Given the description of an element on the screen output the (x, y) to click on. 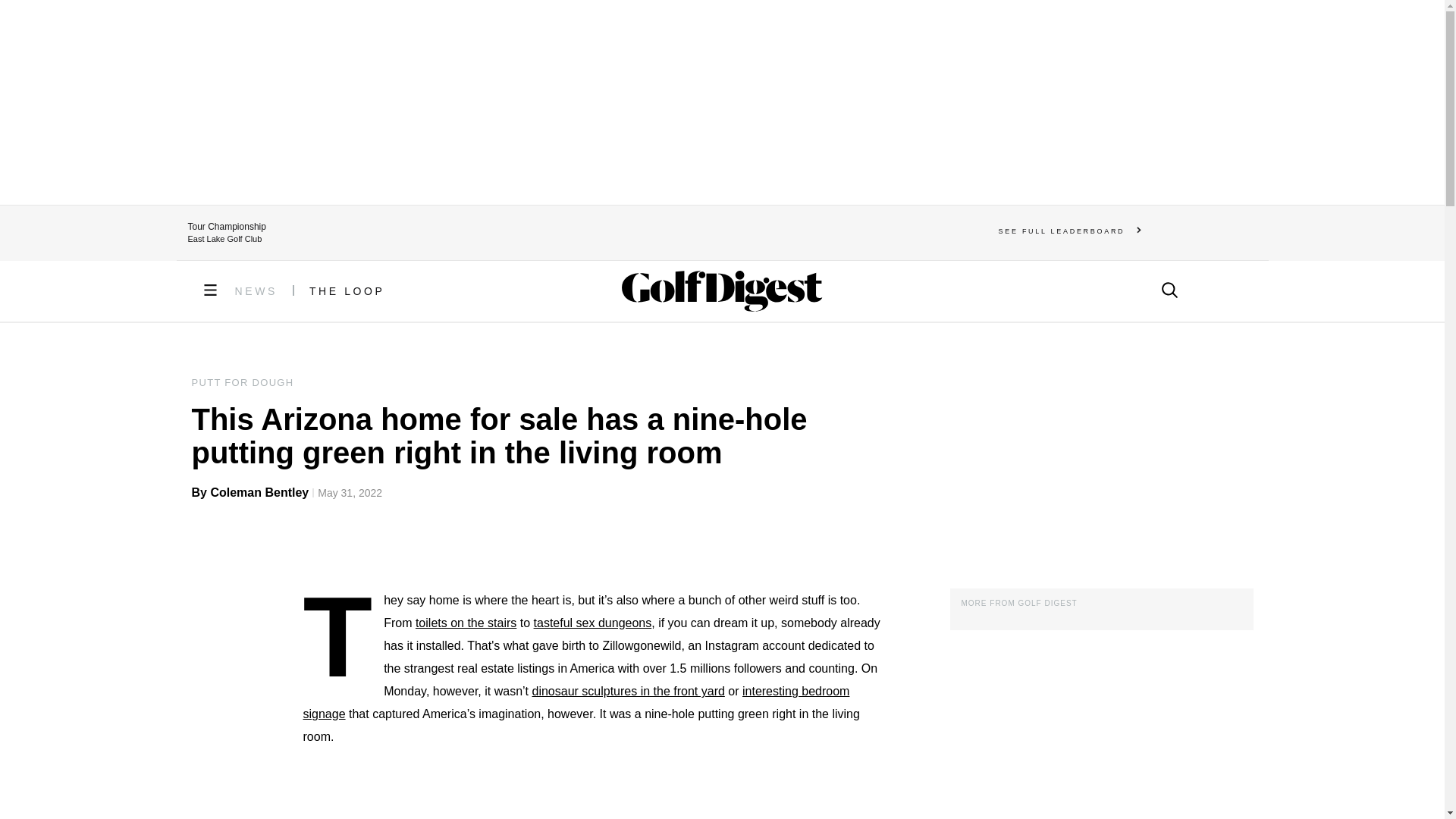
THE LOOP (346, 291)
NEWS (256, 291)
SEE FULL LEADERBOARD (1069, 230)
